Given the description of an element on the screen output the (x, y) to click on. 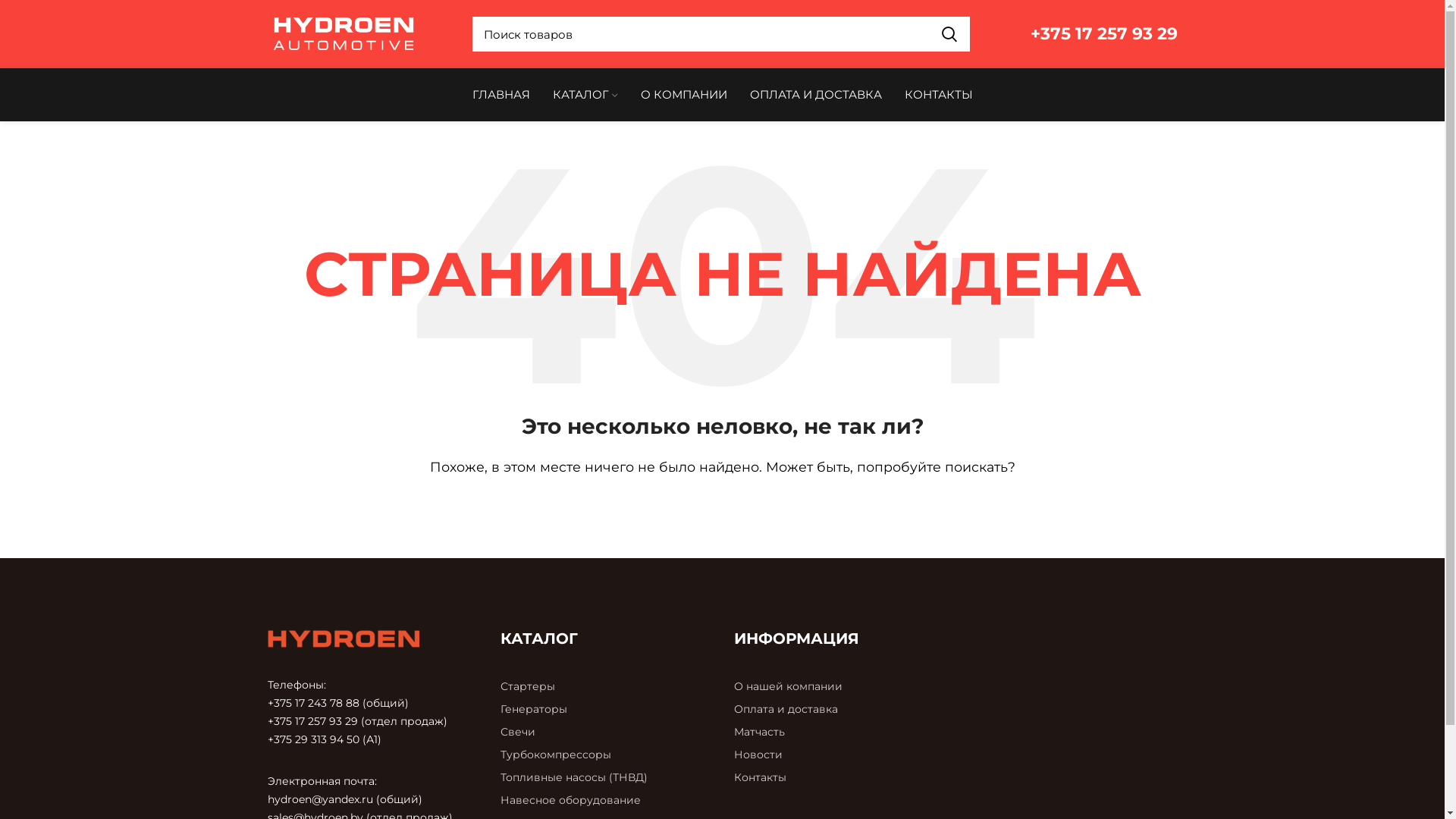
+375 17 257 93 29 Element type: text (311, 721)
+375 17 243 78 88 Element type: text (312, 702)
HYDROEN_Logo_Small_Red Element type: hover (342, 638)
+375 29 313 94 50 Element type: text (312, 739)
hydroen@yandex.ru Element type: text (319, 799)
